Given the description of an element on the screen output the (x, y) to click on. 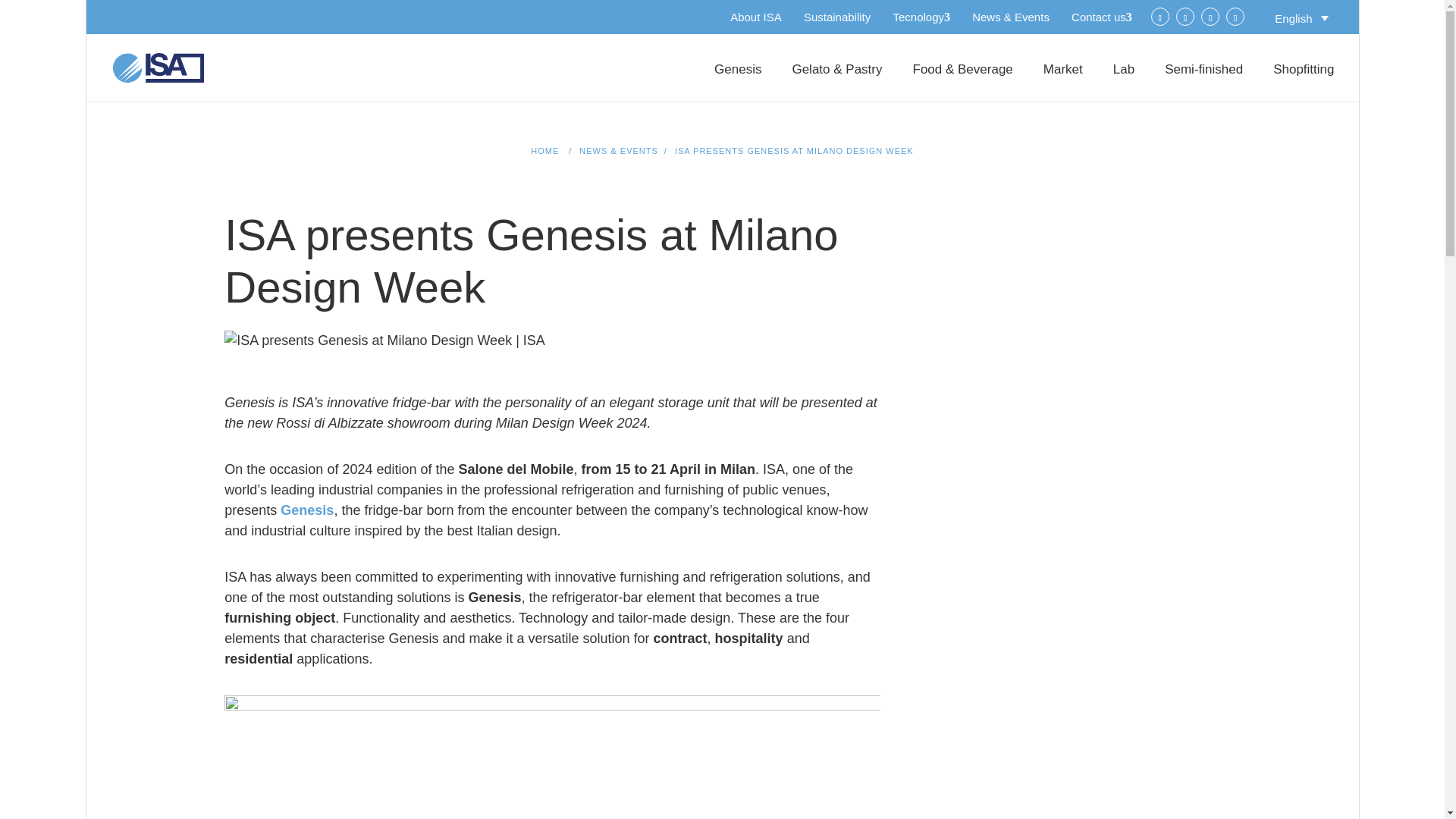
Sustainability (836, 17)
HOME (545, 151)
Contact us (1101, 17)
Genesis (307, 509)
Market (1063, 82)
Semi-finished (1203, 82)
English (1300, 17)
Tecnology (921, 17)
Genesis (737, 82)
Shopfitting (1302, 82)
About ISA (755, 17)
